Given the description of an element on the screen output the (x, y) to click on. 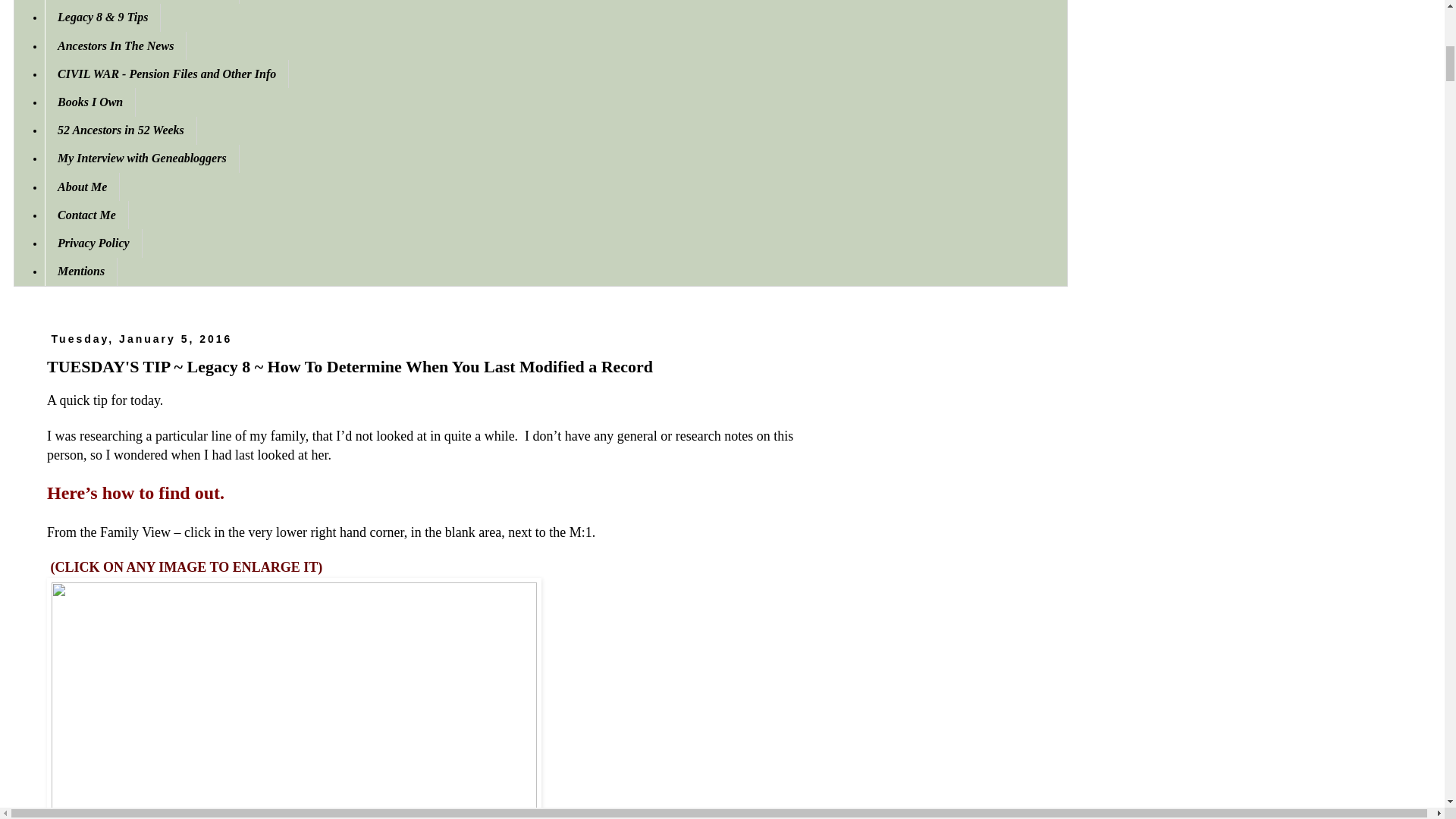
Mentions (81, 271)
52 Ancestors in 52 Weeks (120, 130)
My Interview with Geneabloggers (142, 158)
Ancestors In The News (115, 45)
Privacy Policy (93, 243)
CIVIL WAR - Pension Files and Other Info (166, 73)
Mystery Monday Brick Wall Posts (142, 2)
About Me (82, 186)
Contact Me (87, 214)
Books I Own (90, 101)
